Given the description of an element on the screen output the (x, y) to click on. 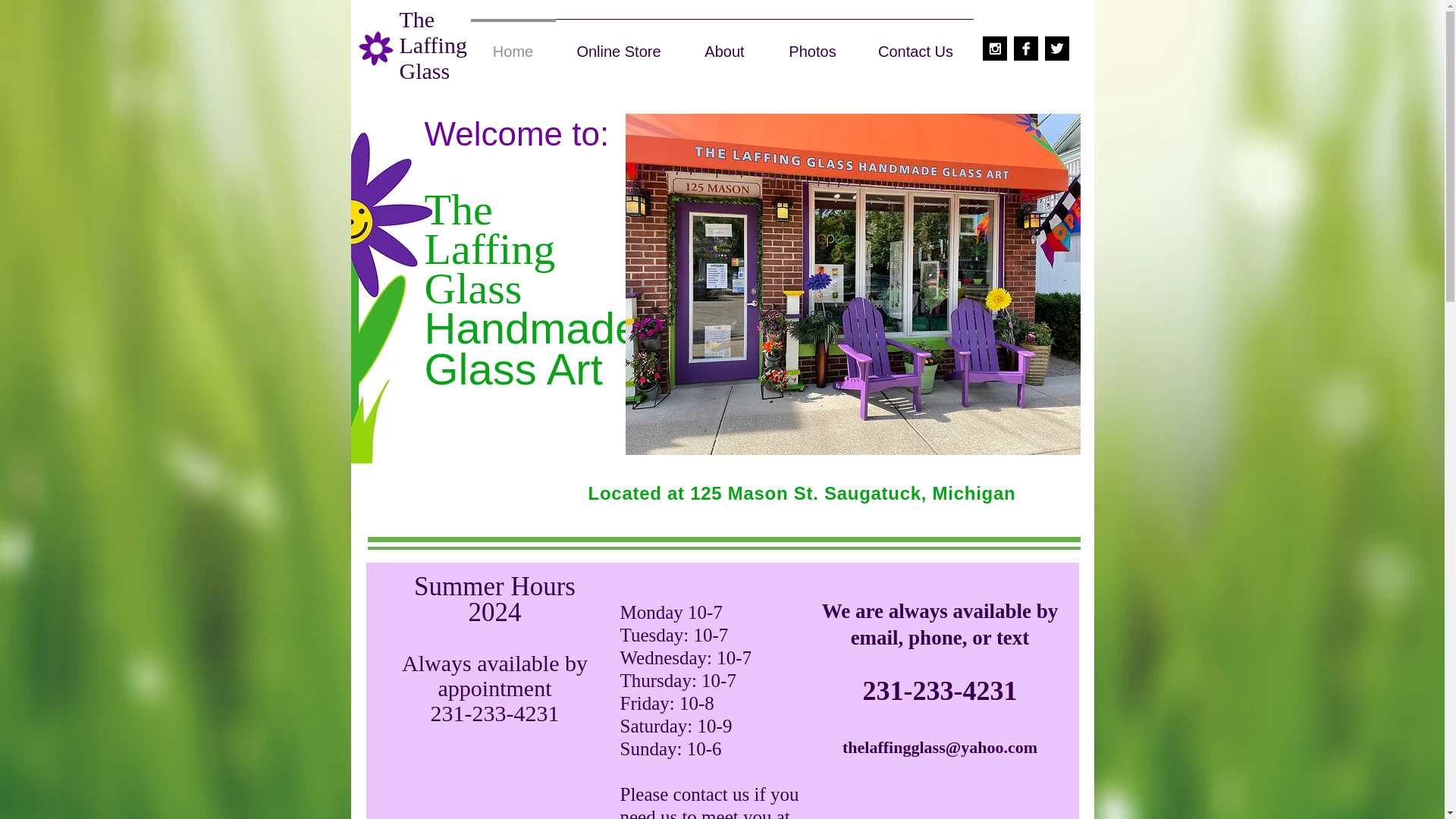
Home (512, 44)
Online Store (617, 44)
Photos (813, 44)
About (724, 44)
Contact Us (916, 44)
